Given the description of an element on the screen output the (x, y) to click on. 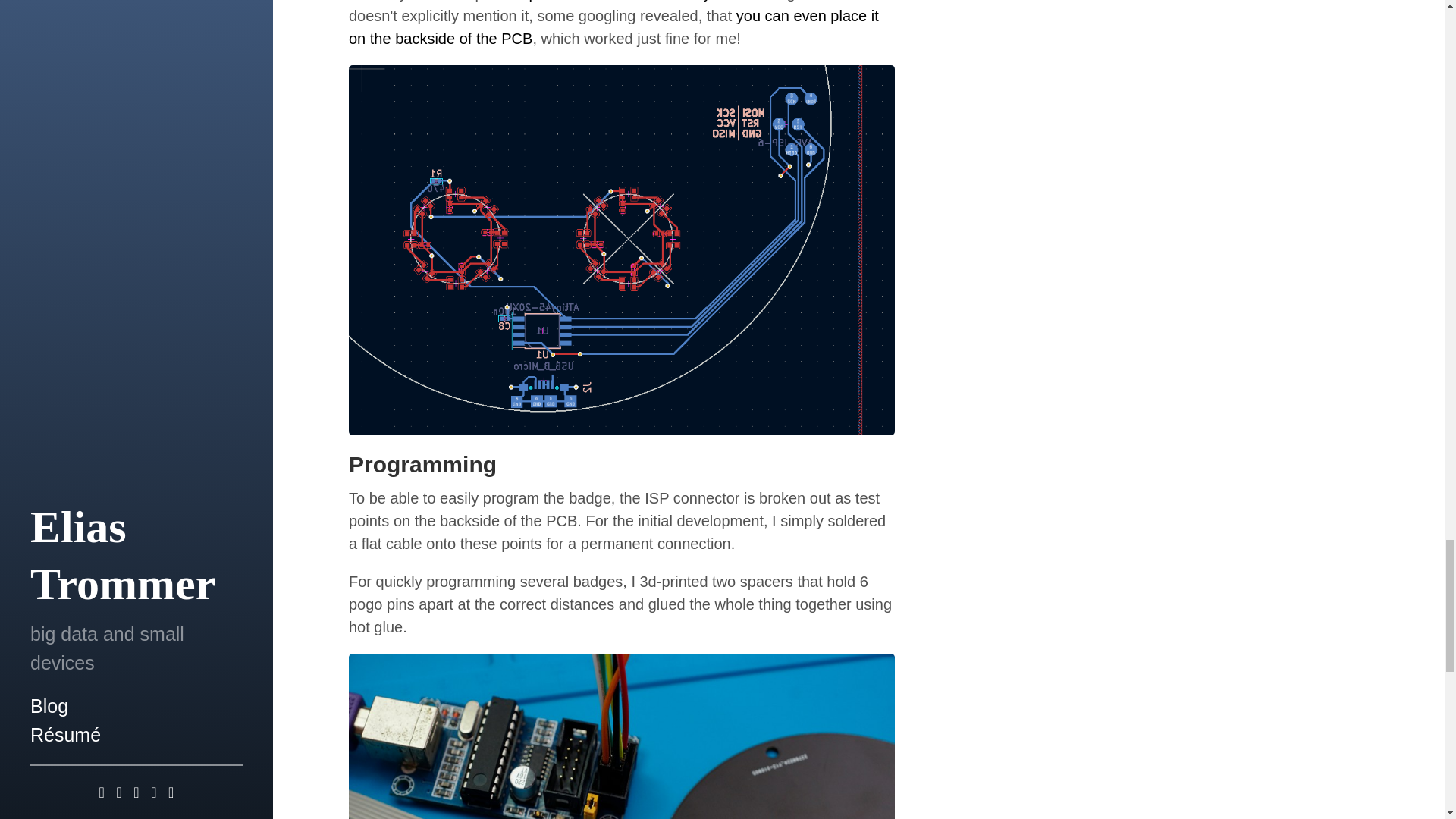
you can even place it on the backside of the PCB (614, 26)
